Given the description of an element on the screen output the (x, y) to click on. 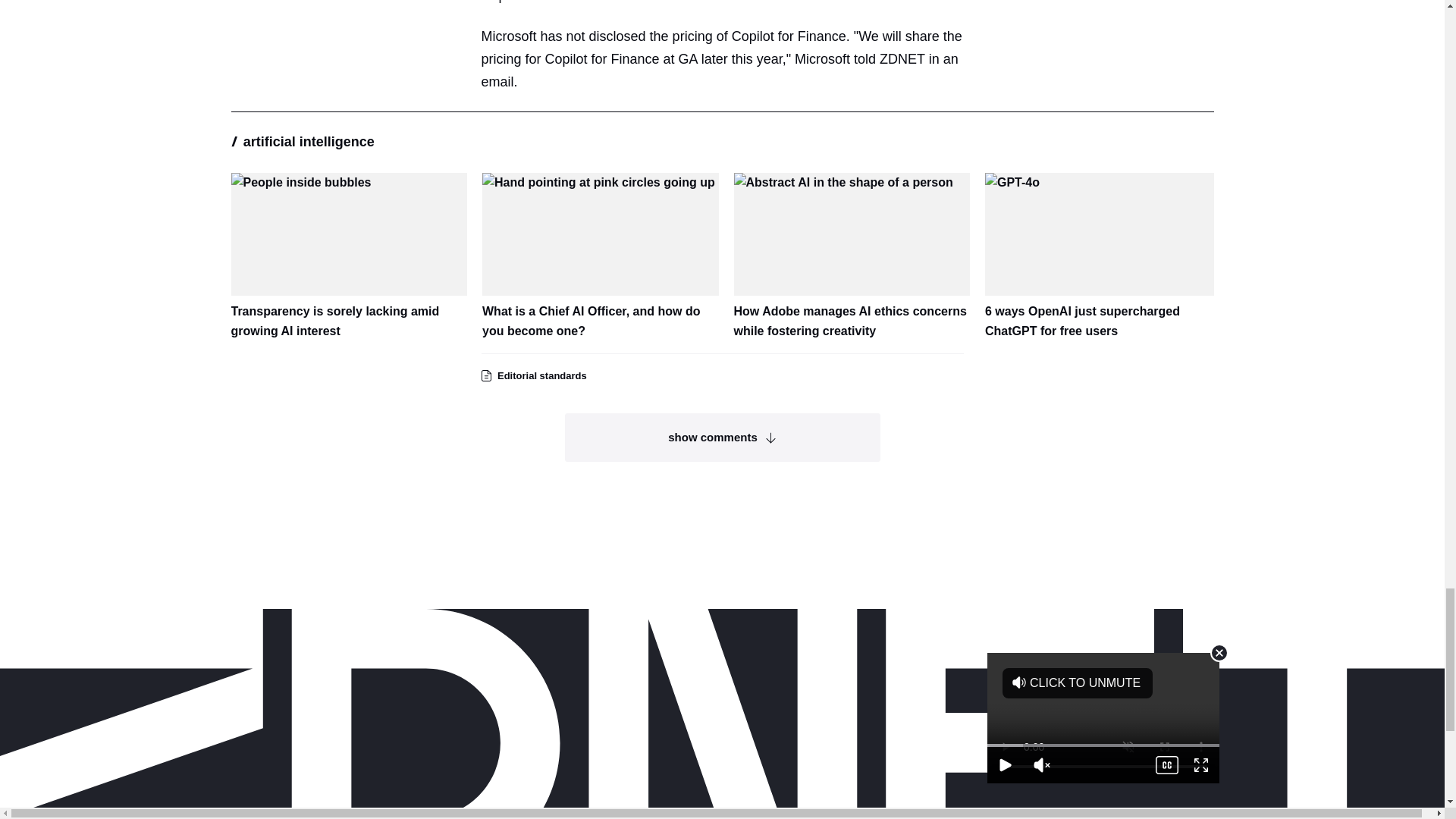
Transparency is sorely lacking amid growing AI interest (348, 256)
What is a Chief AI Officer, and how do you become one? (600, 256)
6 ways OpenAI just supercharged ChatGPT for free users (1103, 256)
